Given the description of an element on the screen output the (x, y) to click on. 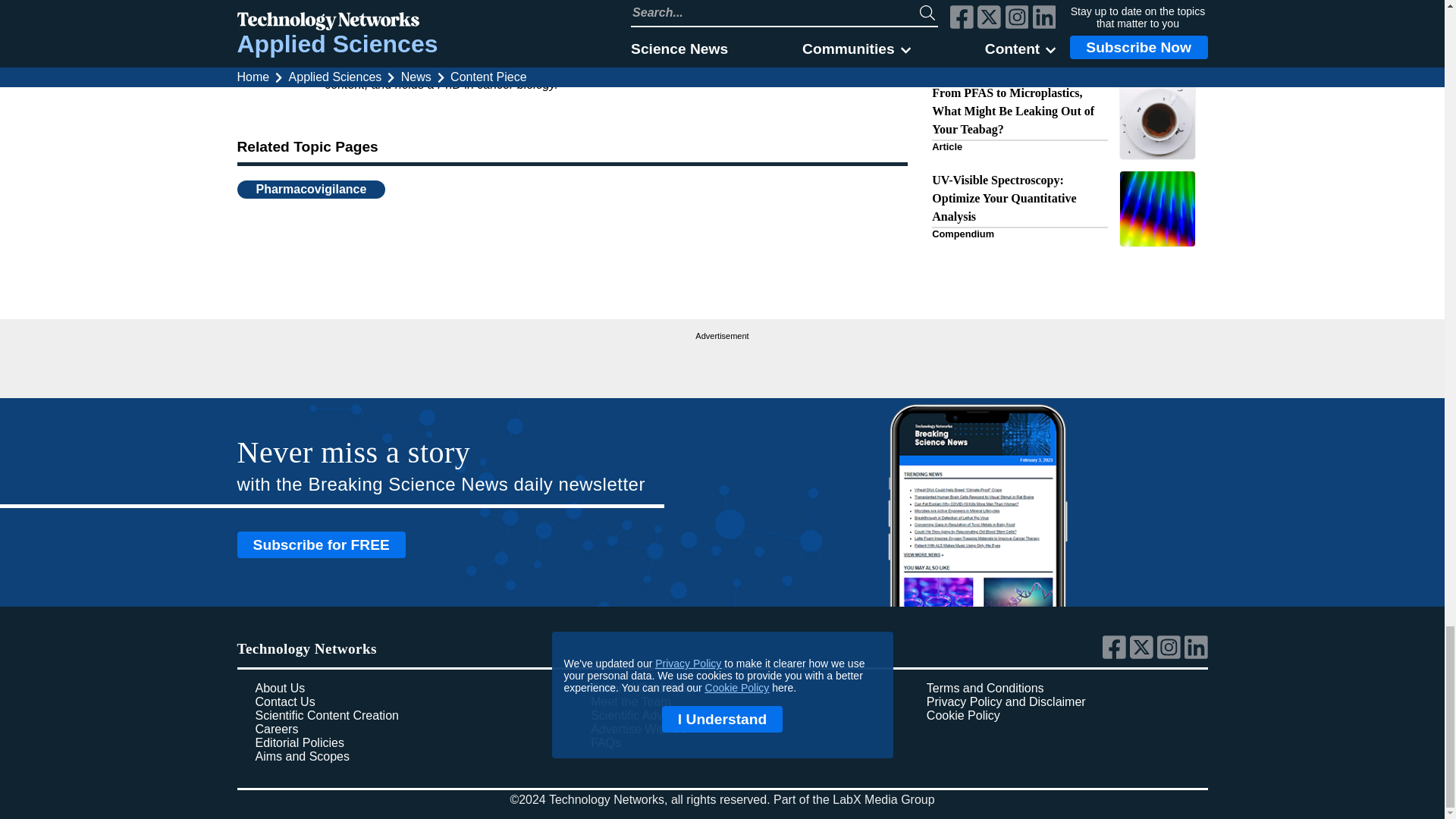
Link to Technology Networks' facebook page (1115, 655)
Link to Technology Networks' instagram page (1171, 655)
Link to Technology Networks' twitter page (1143, 655)
3rd party ad content (721, 362)
Link to Technology Networks' linkedin page (1196, 655)
